Given the description of an element on the screen output the (x, y) to click on. 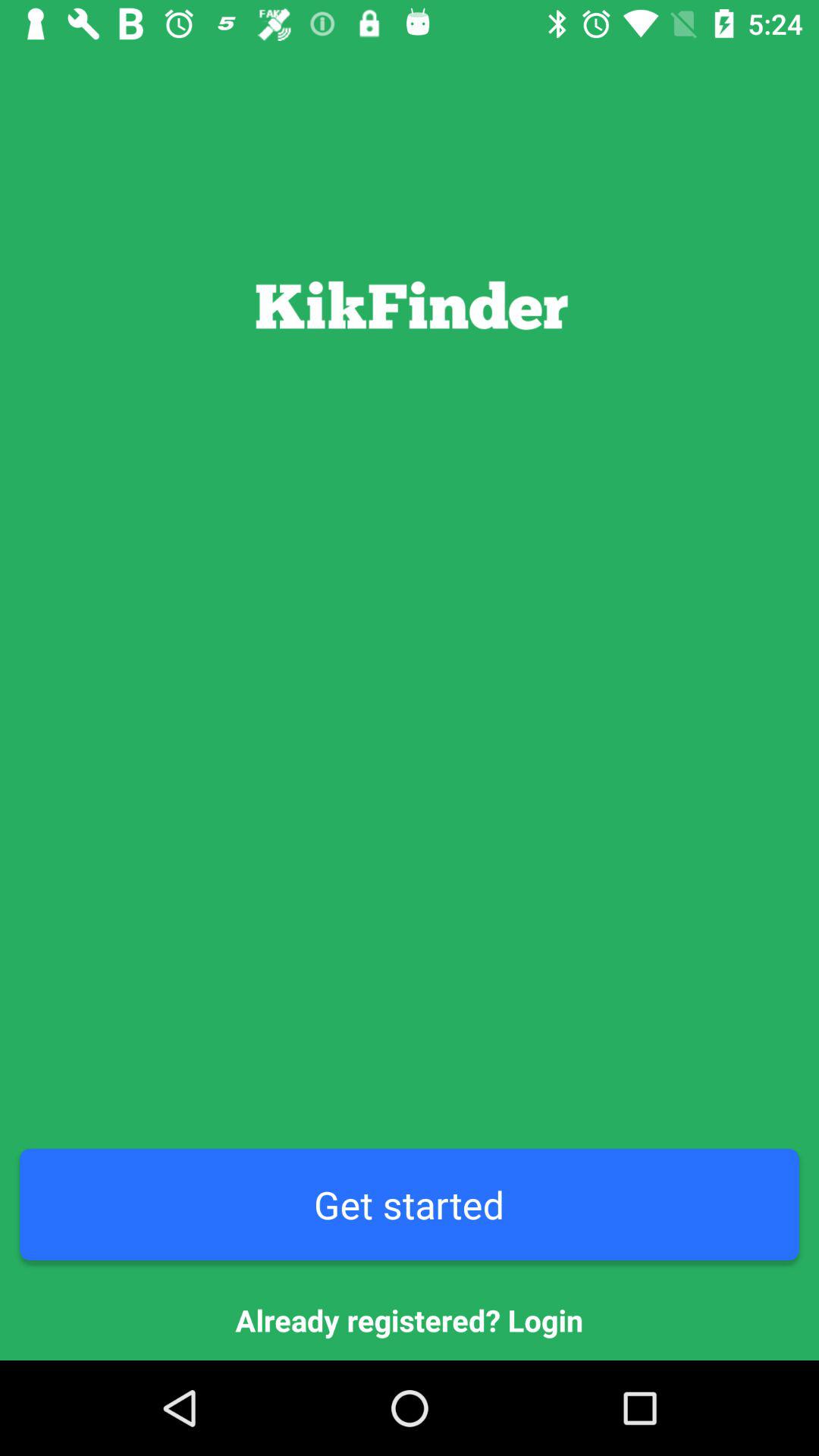
open the already registered? login item (409, 1320)
